Given the description of an element on the screen output the (x, y) to click on. 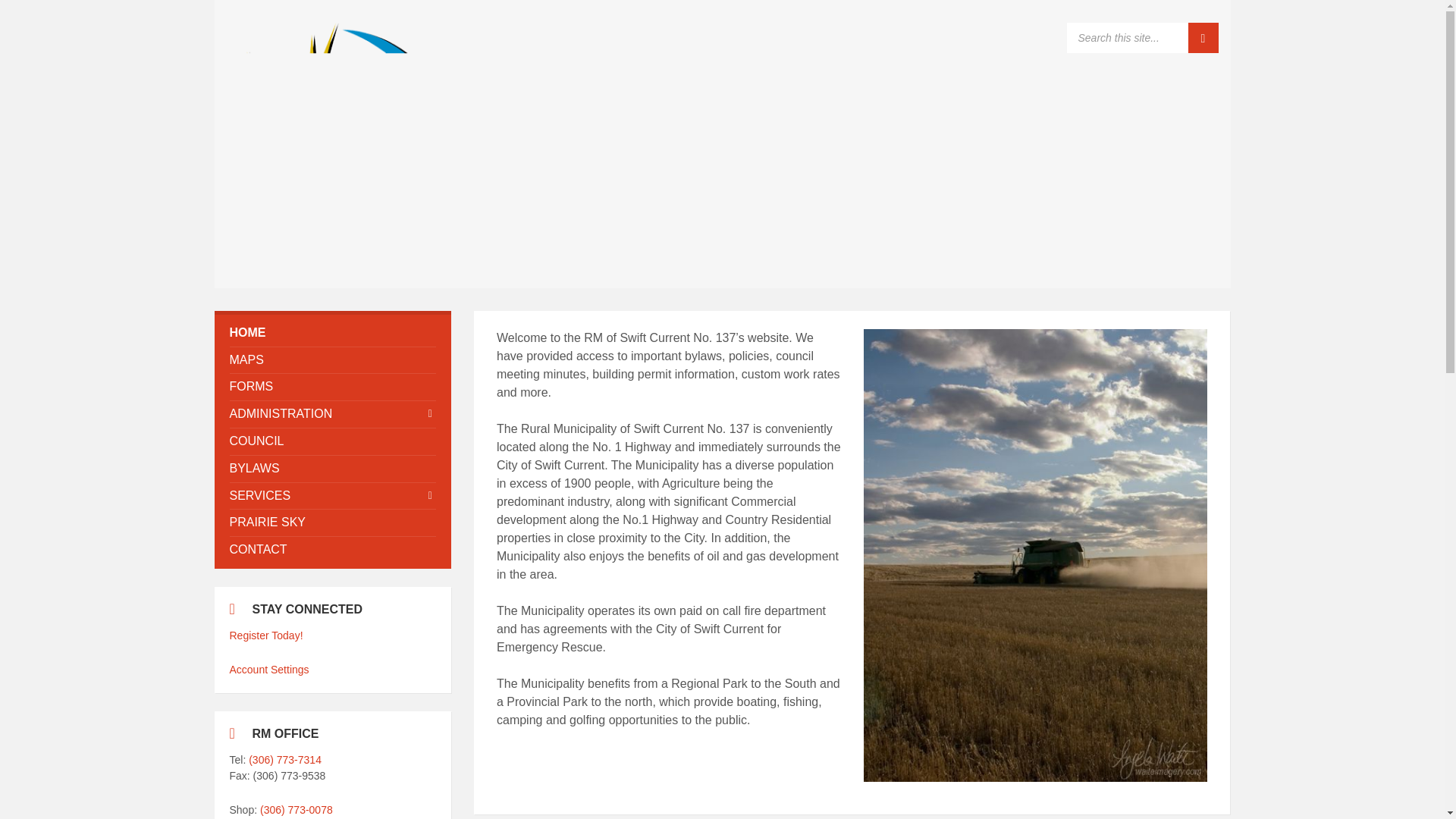
SERVICES (331, 495)
MAPS (331, 360)
HOME (331, 333)
FORMS (331, 386)
COUNCIL (331, 441)
Submit search (1202, 37)
ADMINISTRATION (331, 414)
BYLAWS (331, 468)
